Given the description of an element on the screen output the (x, y) to click on. 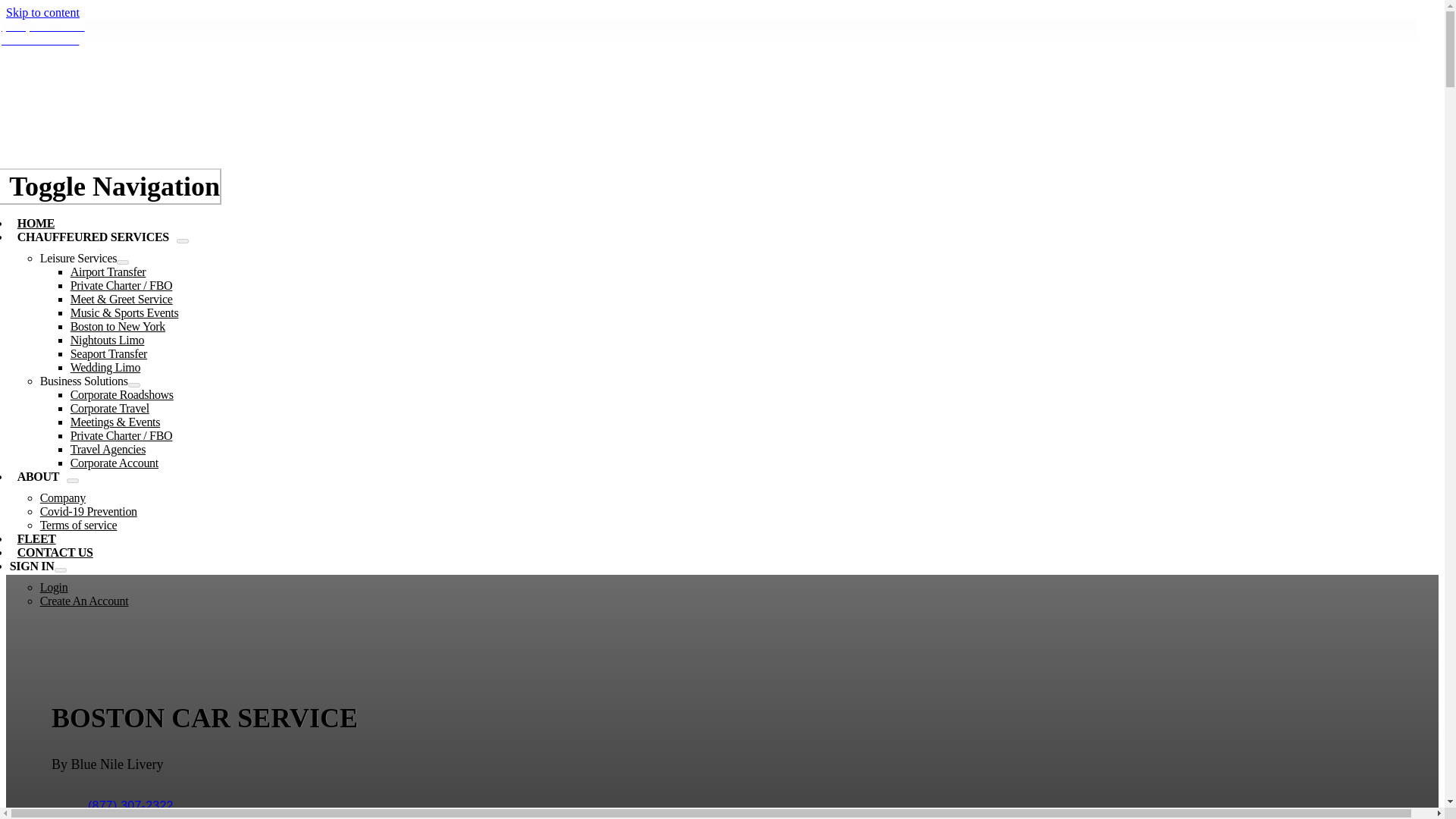
Corporate Account (113, 462)
Company (62, 497)
Leisure Services (78, 257)
Airport Transfer (108, 271)
Boston to New York (117, 326)
FLEET (37, 538)
Skip to content (42, 11)
CHAUFFEURED SERVICES (93, 236)
HOME (36, 223)
Seaport Transfer (108, 353)
Covid-19 Prevention (88, 511)
CONTACT US (55, 552)
book a ride button (146, 813)
Wedding Limo (104, 366)
call button (129, 803)
